Given the description of an element on the screen output the (x, y) to click on. 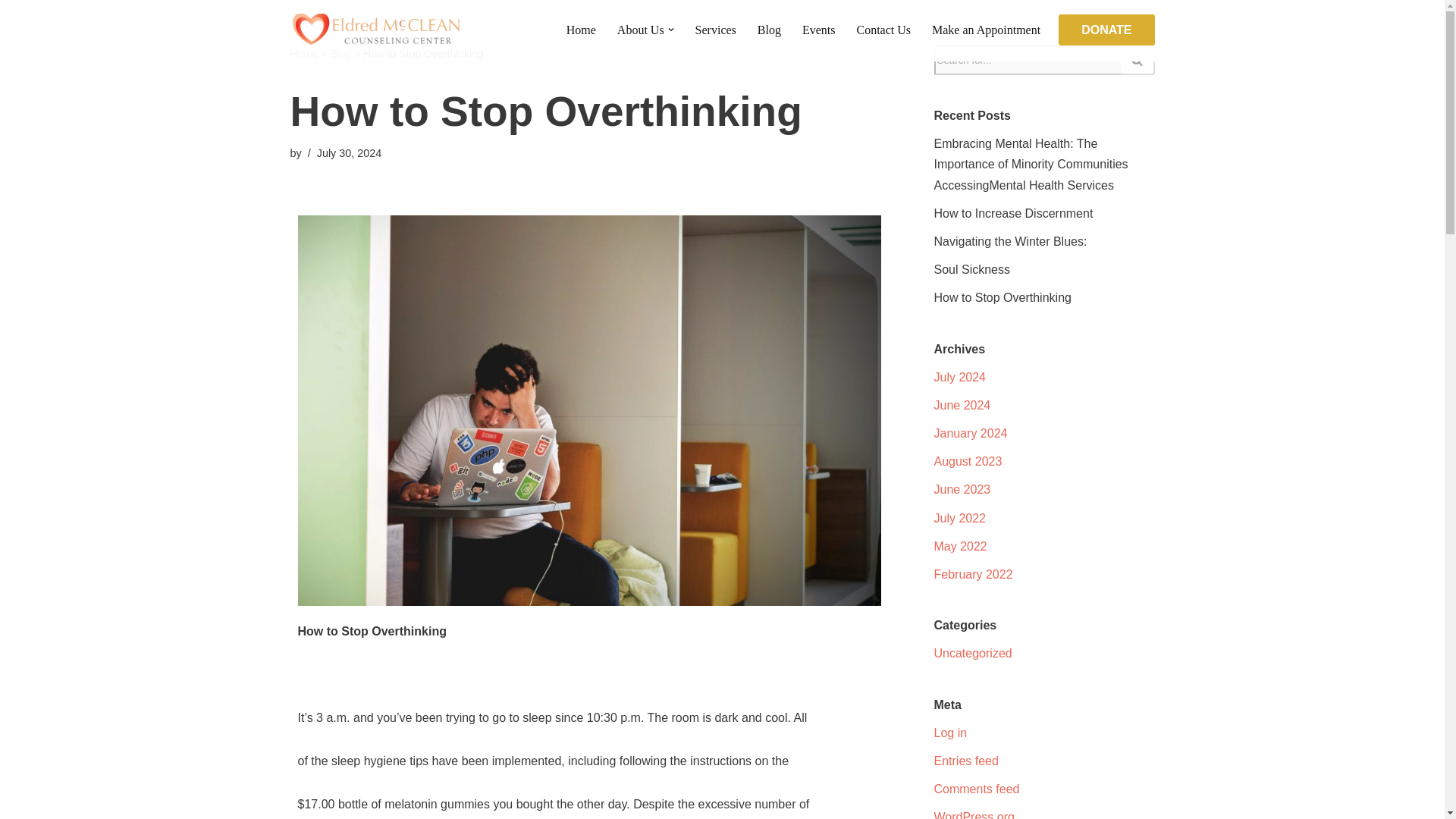
Home (580, 29)
Soul Sickness (972, 269)
January 2024 (970, 432)
Home (303, 53)
Services (715, 29)
Contact Us (883, 29)
How to Stop Overthinking (1002, 297)
About Us (640, 29)
Make an Appointment (986, 29)
August 2023 (968, 461)
Events (818, 29)
Blog (768, 29)
Navigating the Winter Blues: (1010, 241)
DONATE (1106, 29)
June 2023 (962, 489)
